Given the description of an element on the screen output the (x, y) to click on. 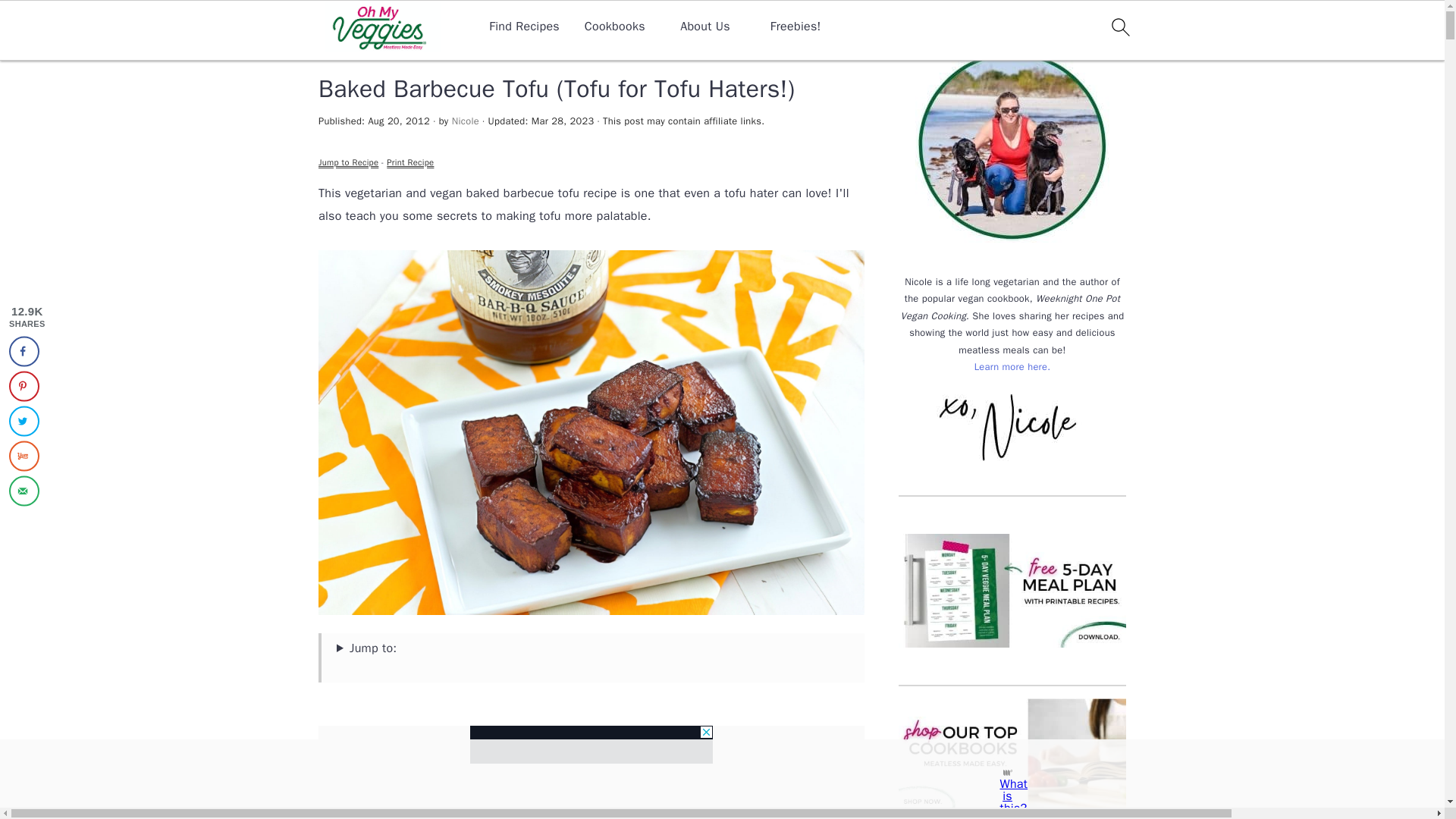
search icon (1119, 26)
3rd party ad content (591, 744)
Share on Facebook (23, 351)
Save to Pinterest (23, 386)
Find Recipes (524, 26)
Share on Twitter (23, 421)
Cookbooks (615, 26)
About Us (704, 26)
Freebies! (795, 26)
Send over email (23, 490)
Share on Yummly (23, 456)
